Given the description of an element on the screen output the (x, y) to click on. 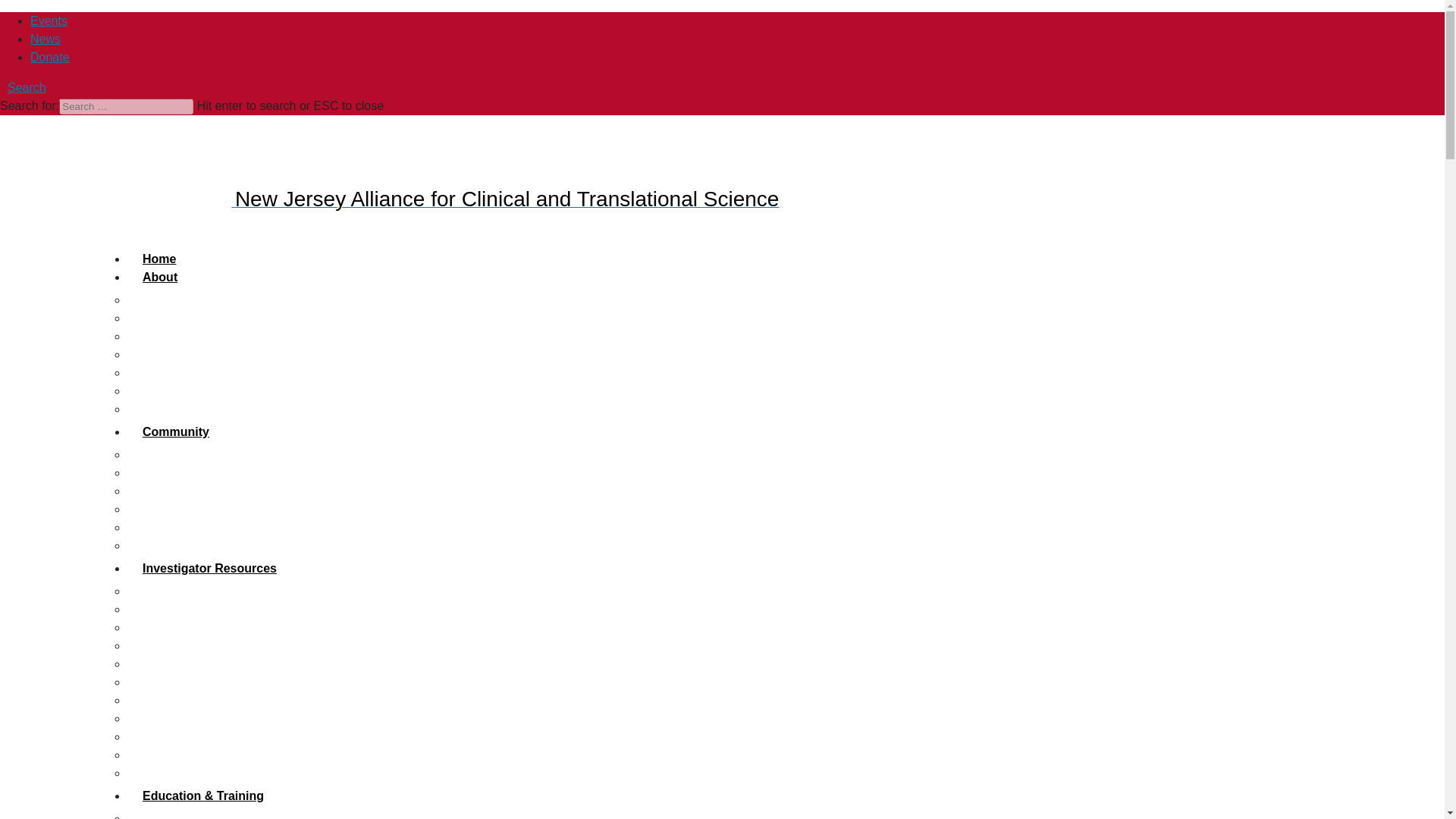
Membership (160, 318)
Home (159, 259)
About (160, 277)
COVID-19 (155, 736)
Special Populations in Research (214, 663)
Investigator Resources (210, 567)
Elements (152, 408)
Machine Learning (176, 699)
Funding Opportunities (187, 590)
Volunteering for a Clinical Trial FAQs (226, 490)
Team Science (165, 681)
CTSA Resources (174, 390)
Search for: (126, 106)
Cite the CTSA and Publications (212, 372)
Find a Clinical Trial (179, 508)
